Given the description of an element on the screen output the (x, y) to click on. 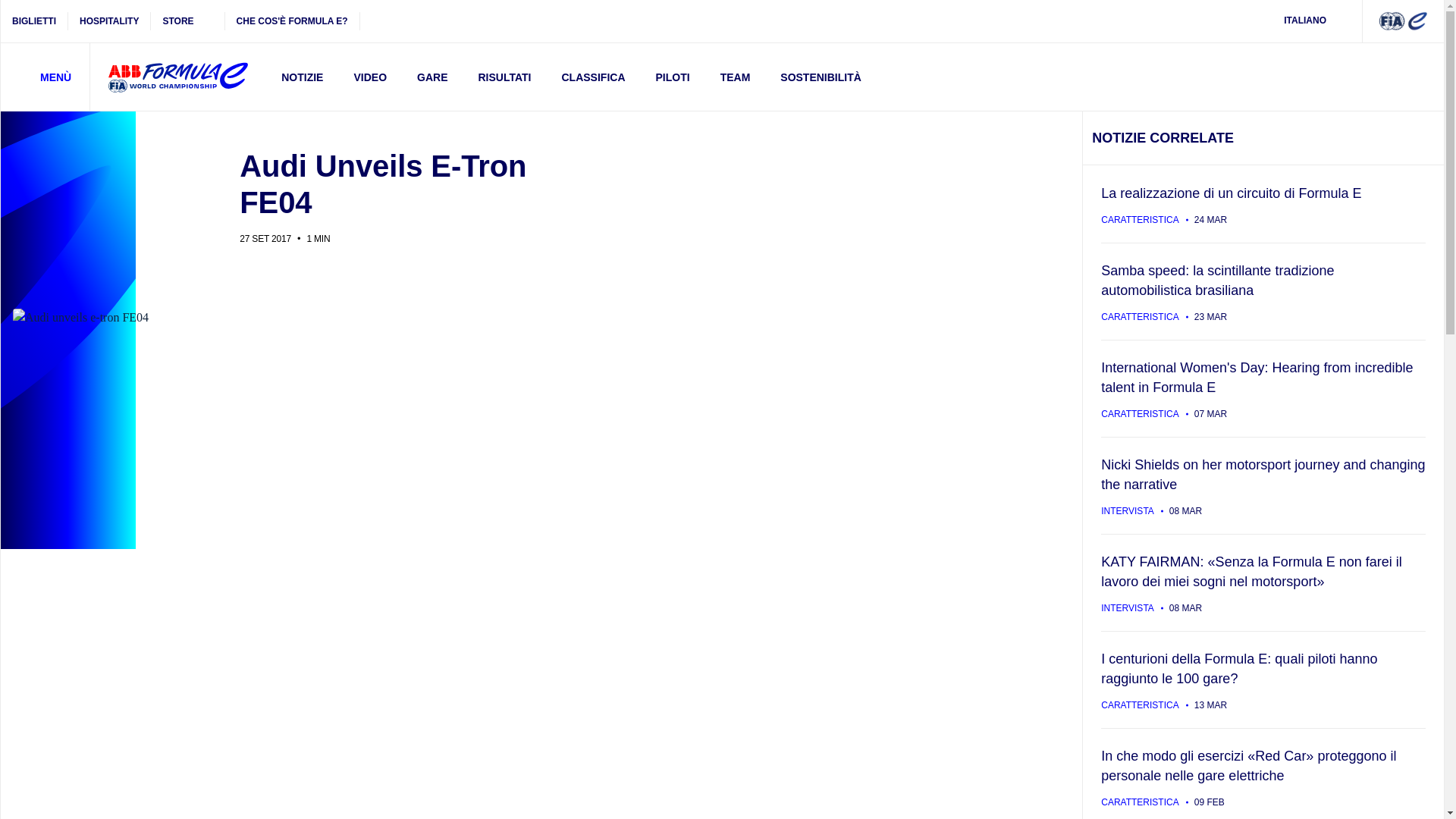
ITALIANO (1315, 20)
VIDEO (369, 76)
BIGLIETTI (34, 21)
PILOTI (672, 76)
NOTIZIE (301, 76)
CLASSIFICA (593, 76)
TEAM (734, 76)
GARE (432, 76)
HOSPITALITY (109, 21)
label.menu.home.link (177, 77)
RISULTATI (504, 76)
